Given the description of an element on the screen output the (x, y) to click on. 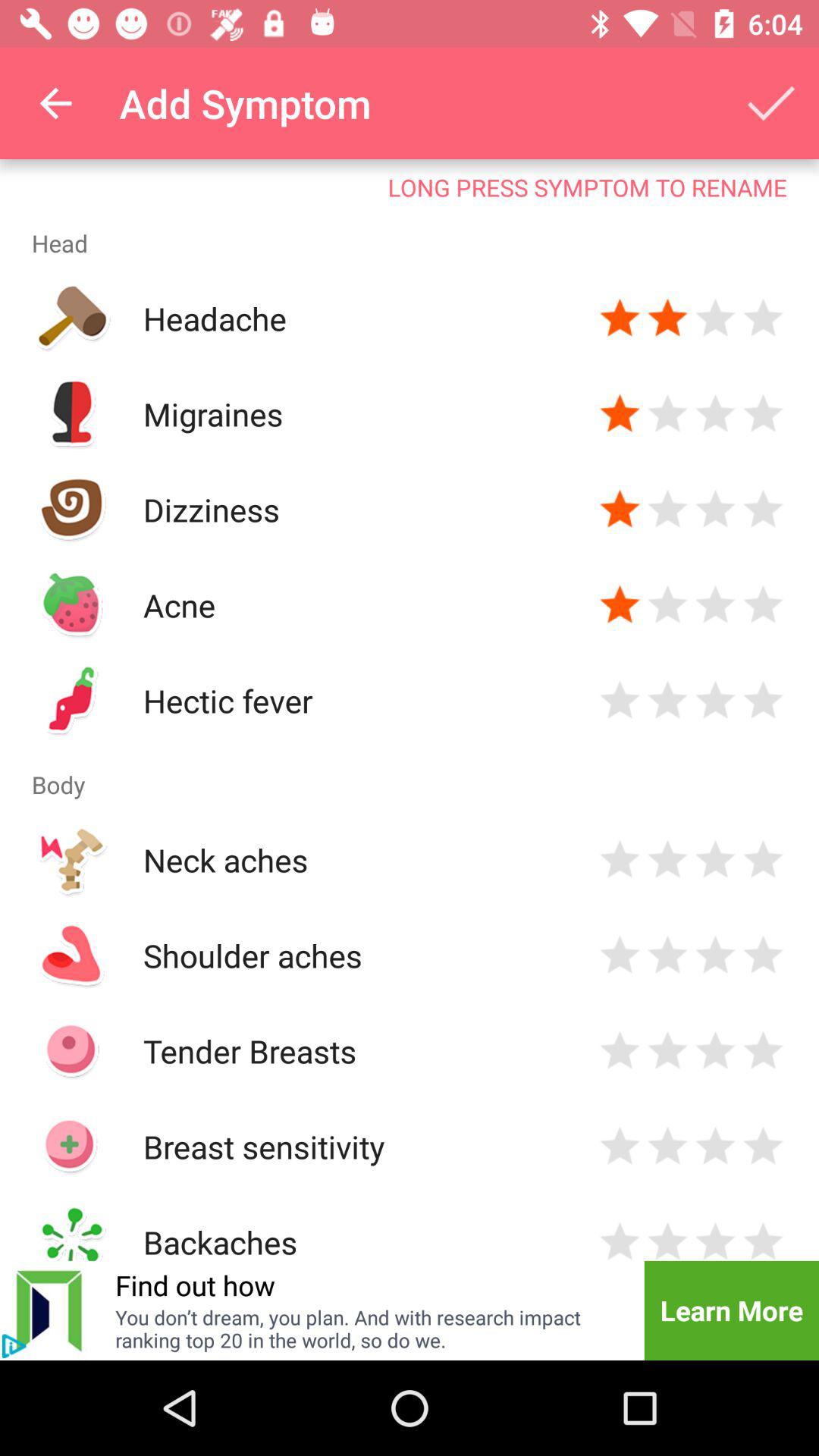
flip to find out how item (195, 1285)
